Given the description of an element on the screen output the (x, y) to click on. 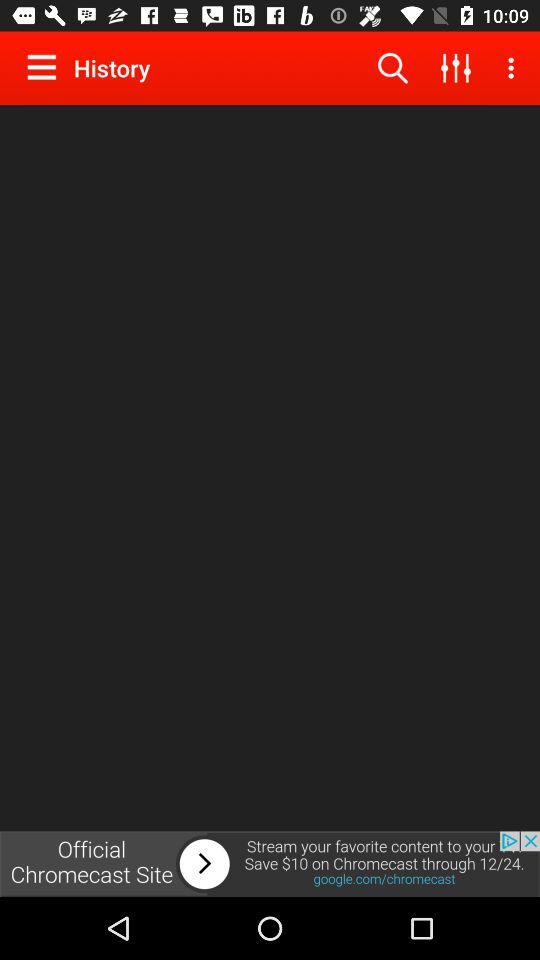
open main menu (46, 67)
